Given the description of an element on the screen output the (x, y) to click on. 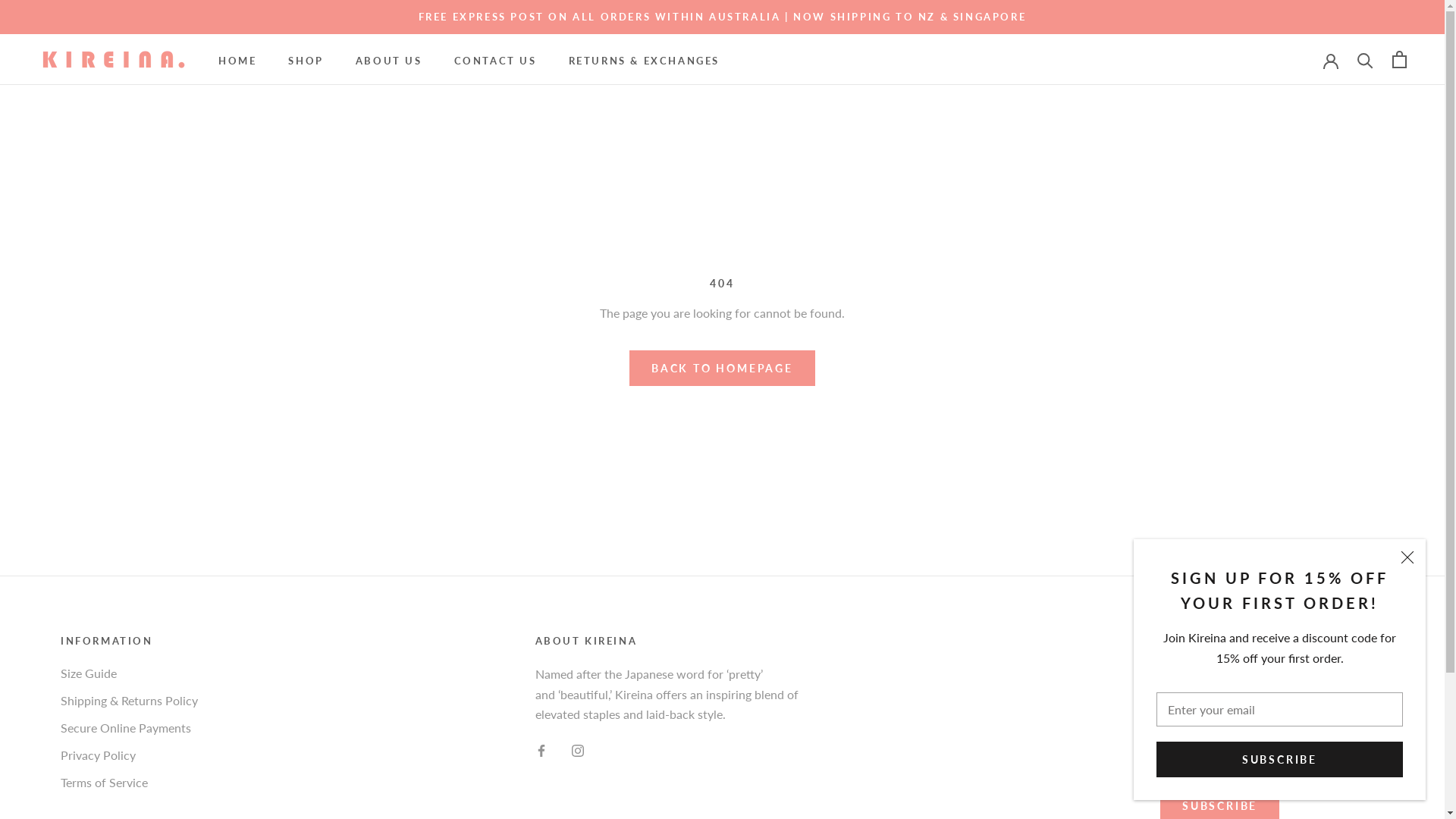
SUBSCRIBE Element type: text (1279, 776)
ABOUT US
ABOUT US Element type: text (388, 60)
Privacy Policy Element type: text (128, 755)
Size Guide Element type: text (128, 673)
Secure Online Payments Element type: text (128, 727)
SHOP Element type: text (305, 60)
BACK TO HOMEPAGE Element type: text (722, 367)
RETURNS & EXCHANGES
RETURNS & EXCHANGES Element type: text (643, 60)
HOME
HOME Element type: text (237, 60)
Terms of Service Element type: text (128, 782)
CONTACT US
CONTACT US Element type: text (495, 60)
Shipping & Returns Policy Element type: text (128, 700)
